Given the description of an element on the screen output the (x, y) to click on. 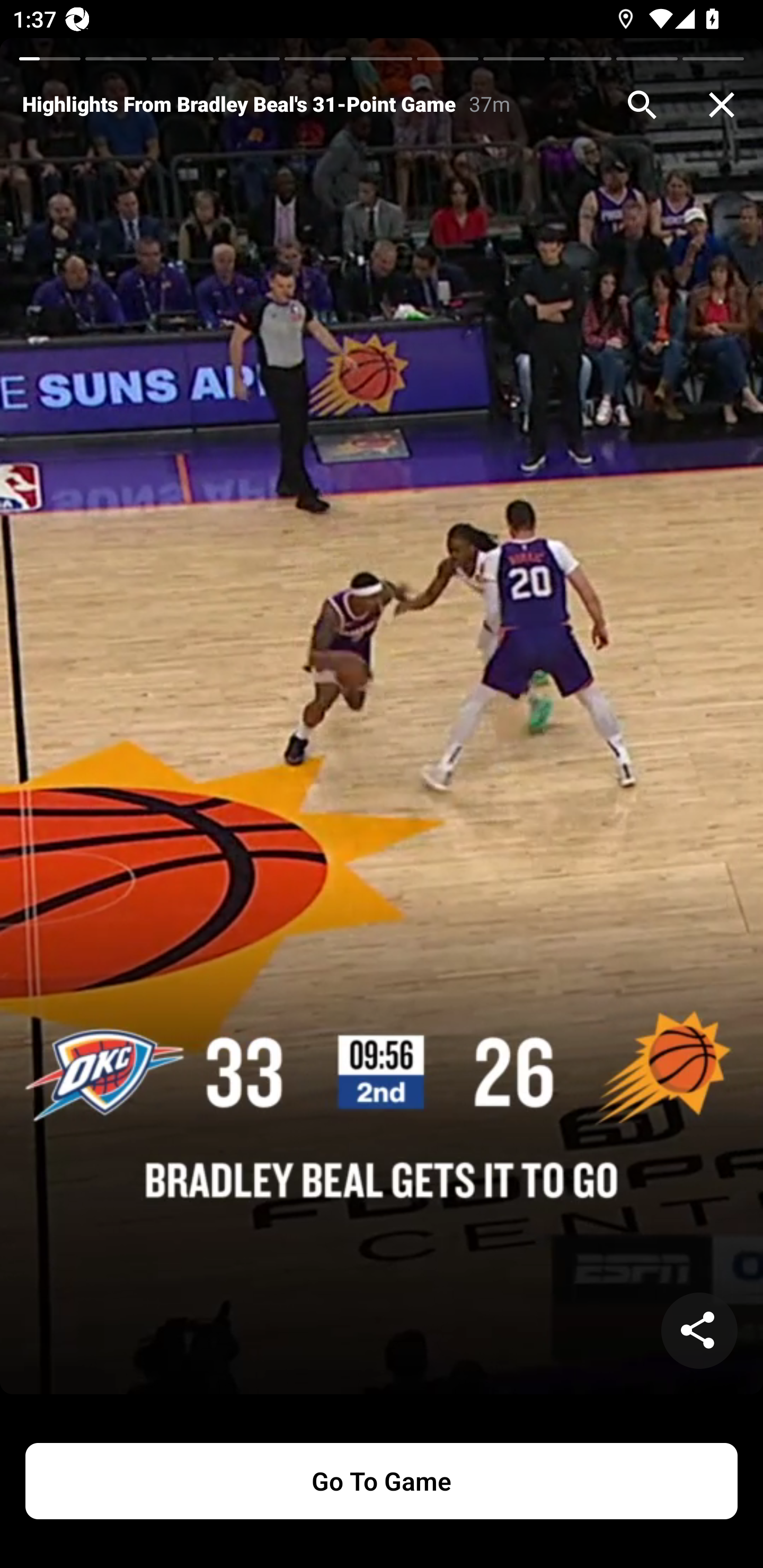
search (642, 104)
close (721, 104)
share (699, 1330)
Go To Game (381, 1480)
